Given the description of an element on the screen output the (x, y) to click on. 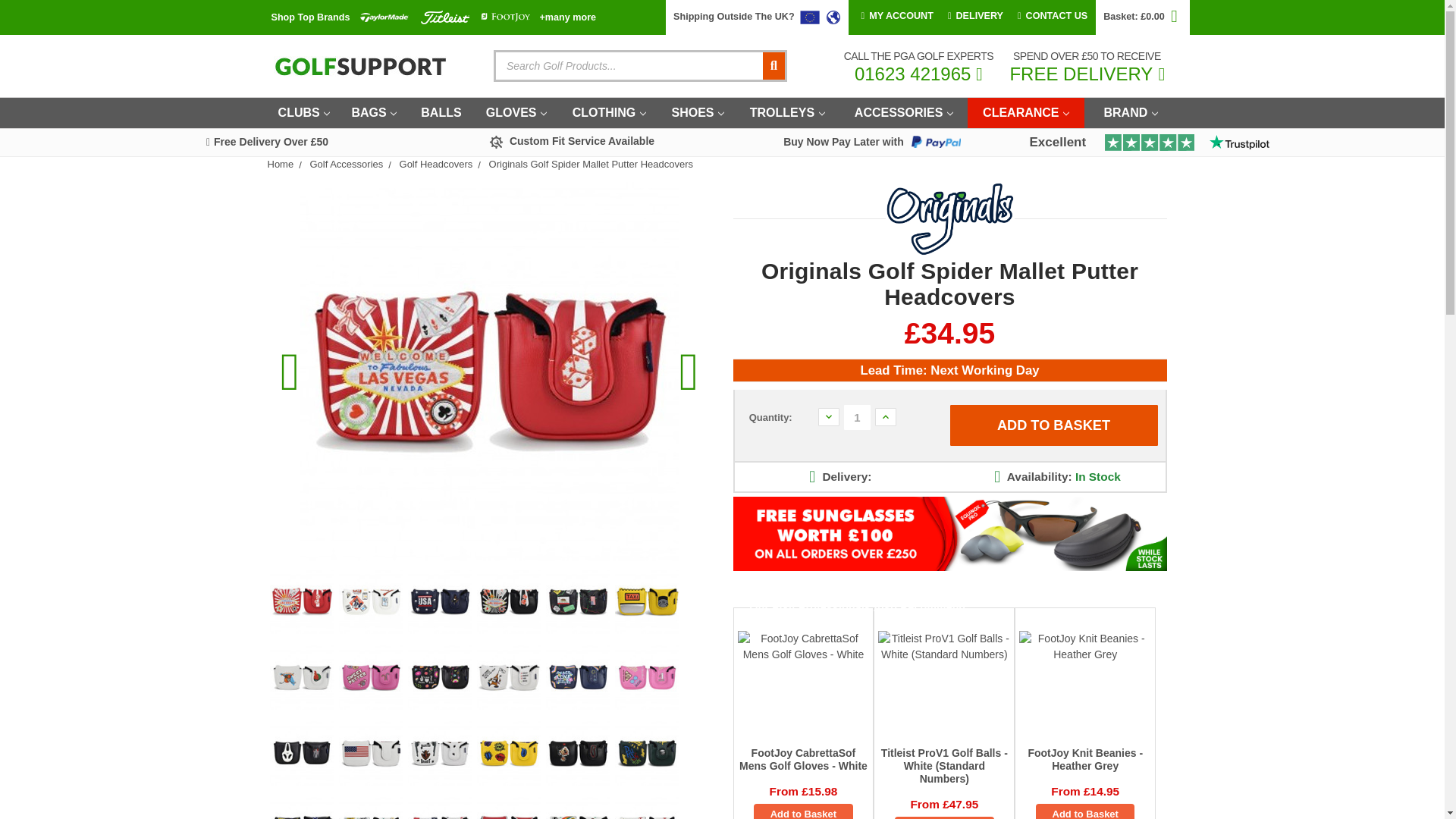
Originals Golf Spider Mallet Putter Headcovers (439, 601)
Originals Golf Spider Mallet Putter Headcovers (646, 601)
Originals Golf Spider Mallet Putter Headcovers (439, 677)
CONTACT US (1052, 16)
Originals Golf Spider Mallet Putter Headcovers (578, 601)
Originals Golf Spider Mallet Putter Headcovers (508, 601)
Originals Golf Spider Mallet Putter Headcovers (578, 677)
Shop Top Brands (309, 17)
Originals Golf Spider Mallet Putter Headcovers (370, 601)
Originals Golf Spider Mallet Putter Headcovers (301, 601)
